Given the description of an element on the screen output the (x, y) to click on. 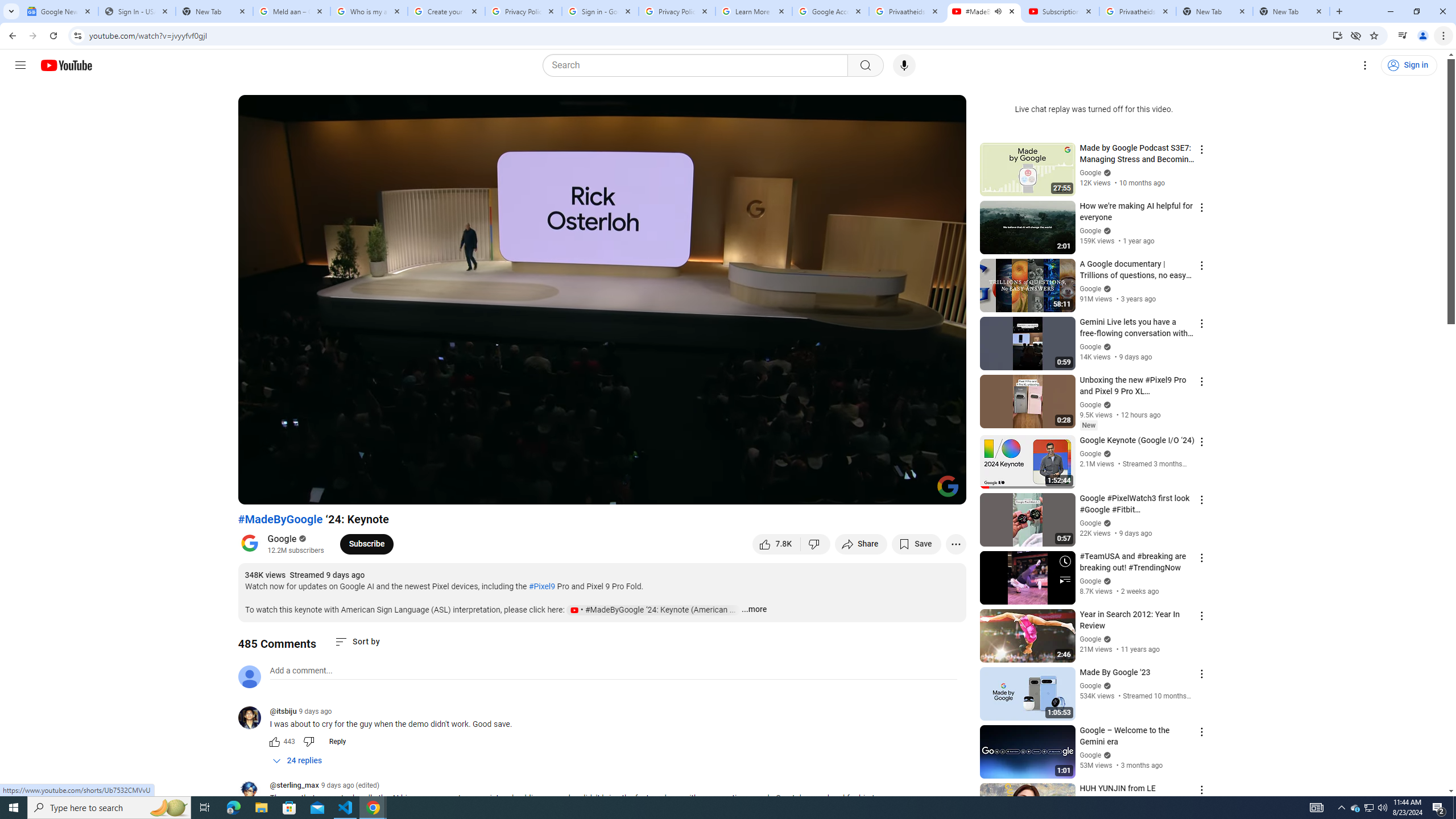
@itsbiju (283, 711)
AutomationID: simplebox-placeholder (301, 670)
New (1087, 425)
Install YouTube (1336, 35)
Channel watermark (947, 486)
Third-party cookies blocked (1355, 35)
Save to playlist (915, 543)
Sign in (1408, 64)
